Given the description of an element on the screen output the (x, y) to click on. 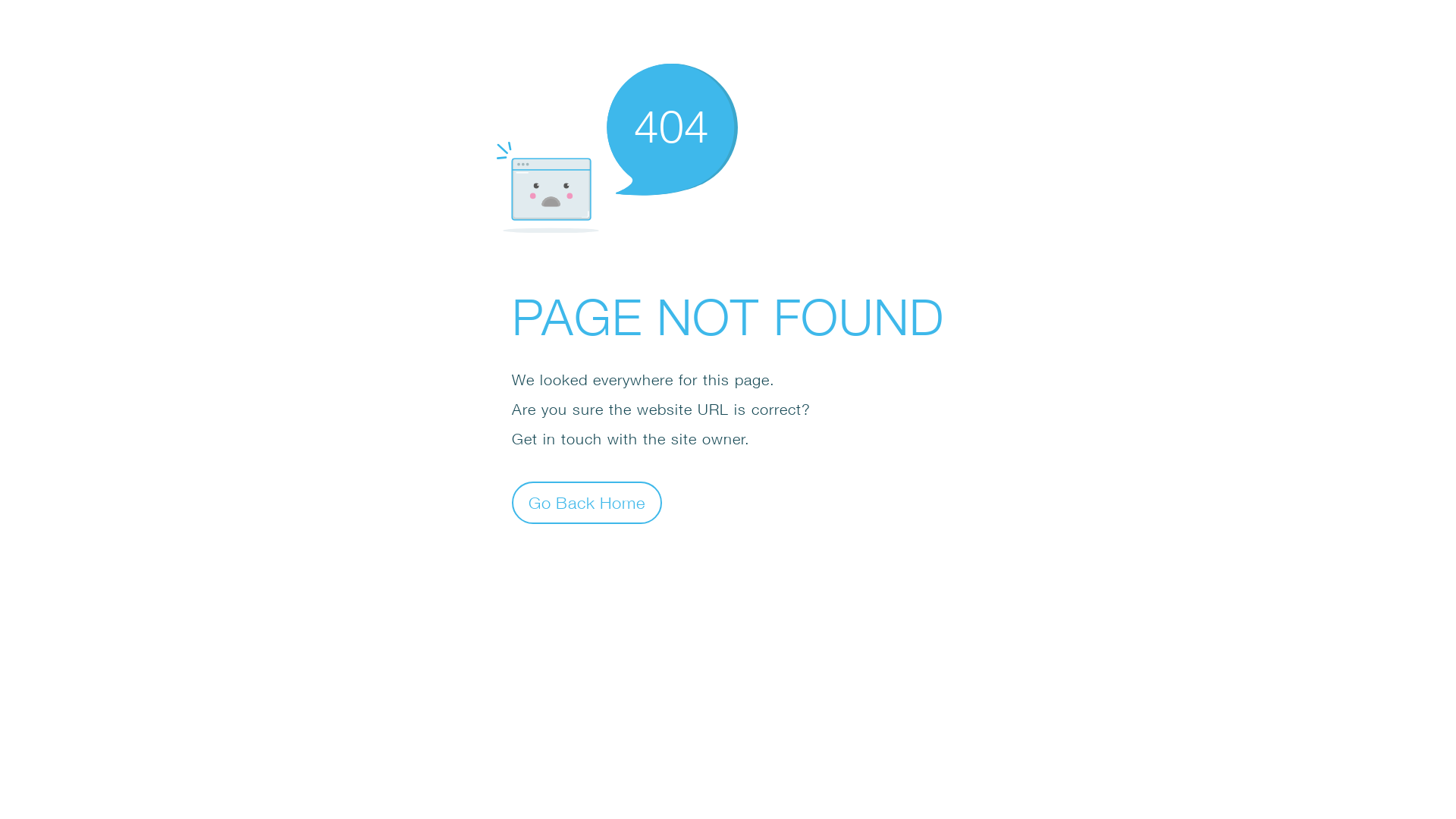
Go Back Home Element type: text (586, 502)
